Given the description of an element on the screen output the (x, y) to click on. 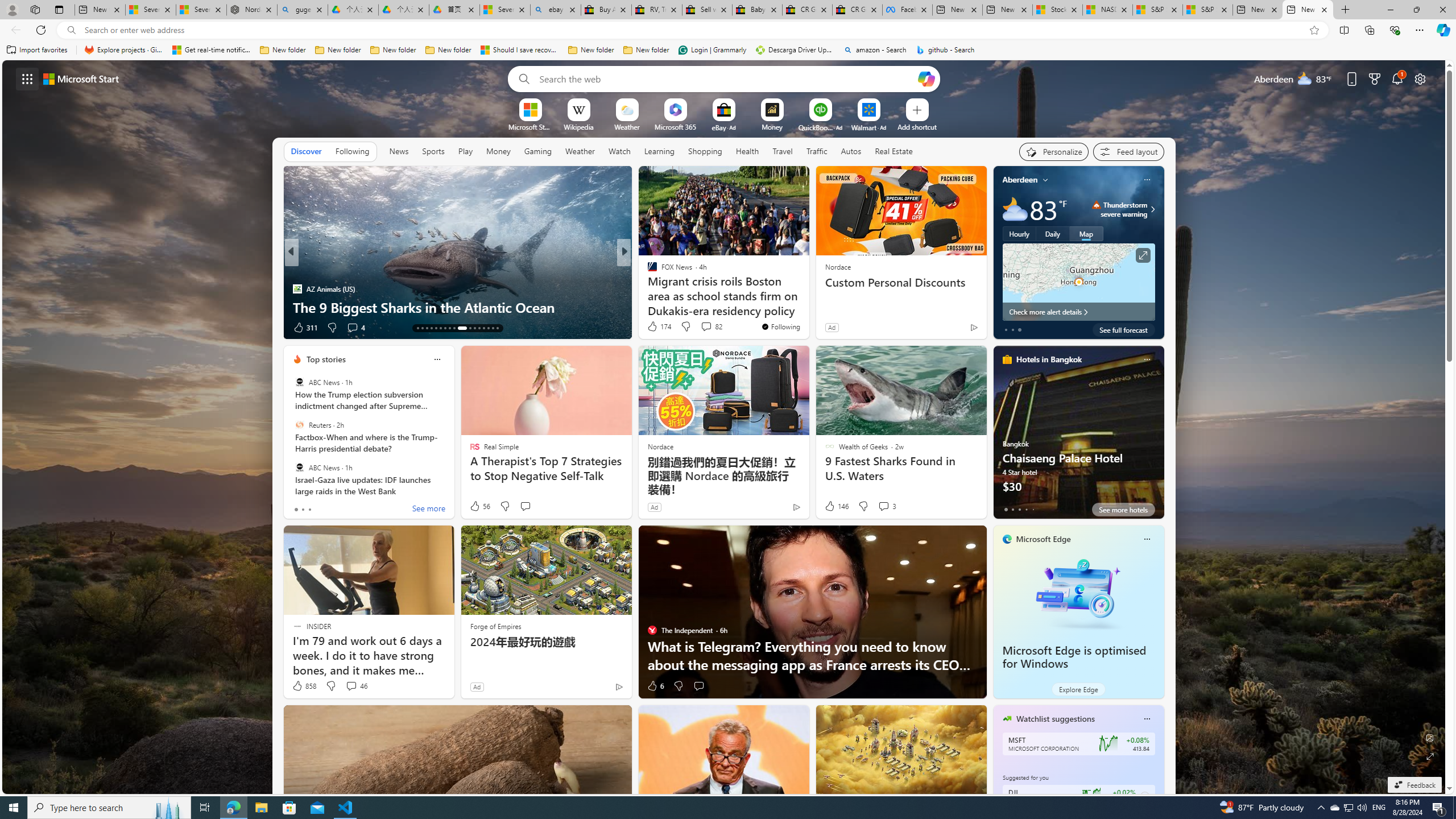
The 9 Biggest Sharks in the Atlantic Ocean (457, 307)
More options (1146, 718)
AutomationID: tab-29 (497, 328)
Import favorites (36, 49)
Daily (1052, 233)
Map (1085, 233)
Larger map  (1077, 282)
AutomationID: tab-16 (431, 328)
Watchlist suggestions (1055, 718)
View comments 46 Comment (350, 685)
ebay - Search (555, 9)
amazon - Search (875, 49)
View comments 19 Comment (698, 327)
